Given the description of an element on the screen output the (x, y) to click on. 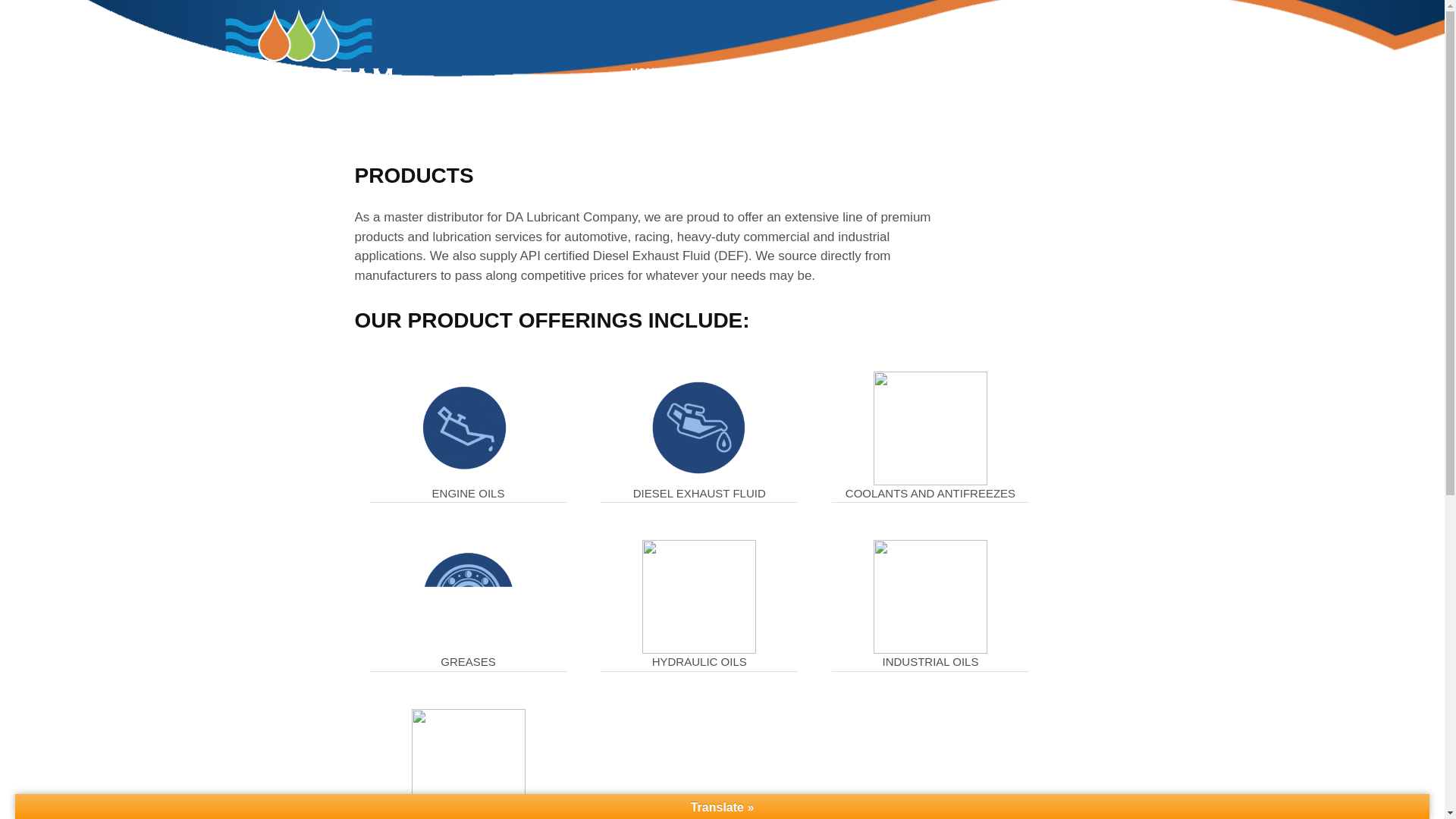
HOME (645, 71)
MARKETS (794, 71)
SUSTAINABILITY (1066, 71)
CAREERS (1067, 20)
ABOUT (710, 71)
CONTACT (1161, 20)
